Given the description of an element on the screen output the (x, y) to click on. 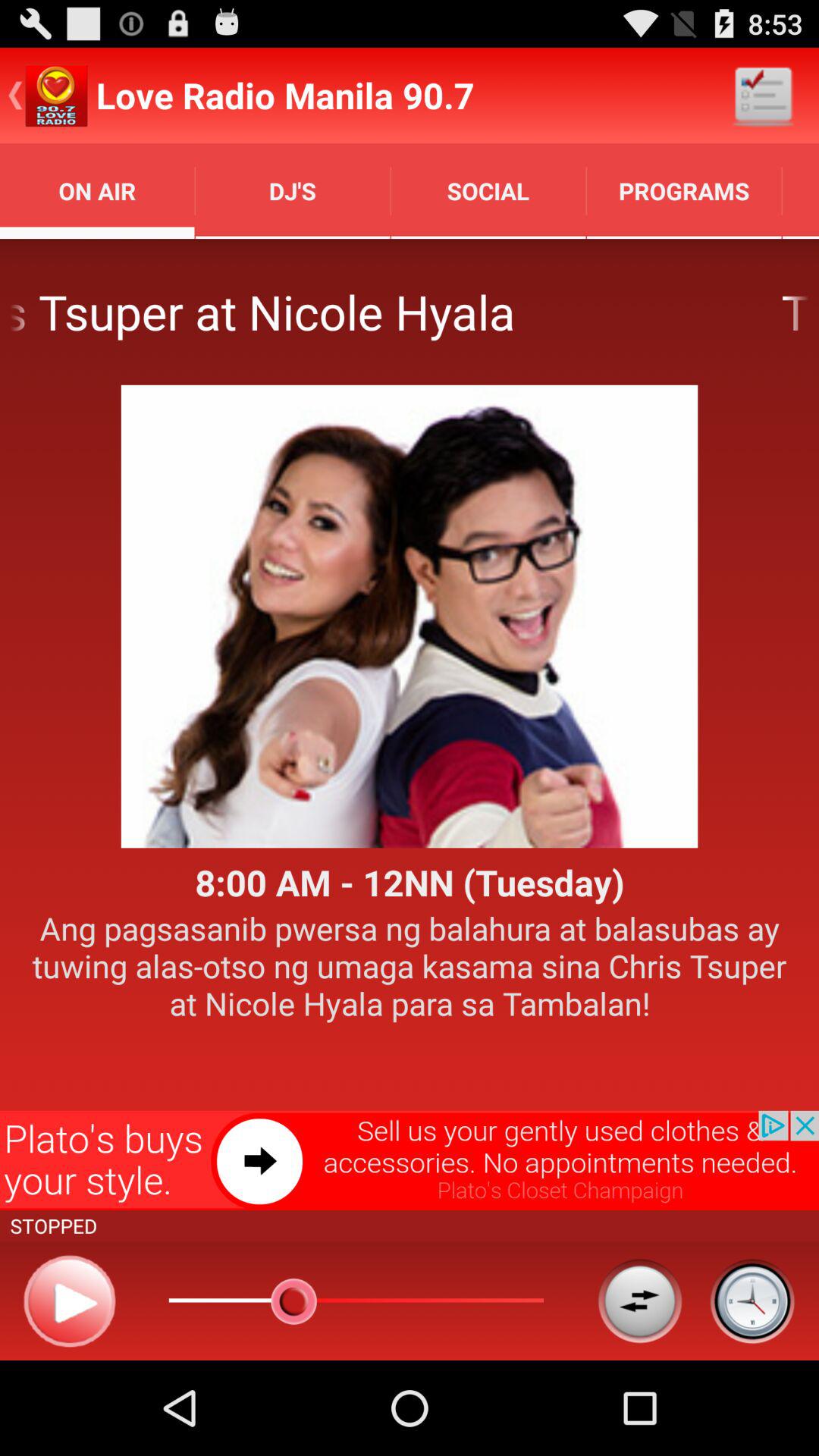
audio duration (751, 1300)
